Given the description of an element on the screen output the (x, y) to click on. 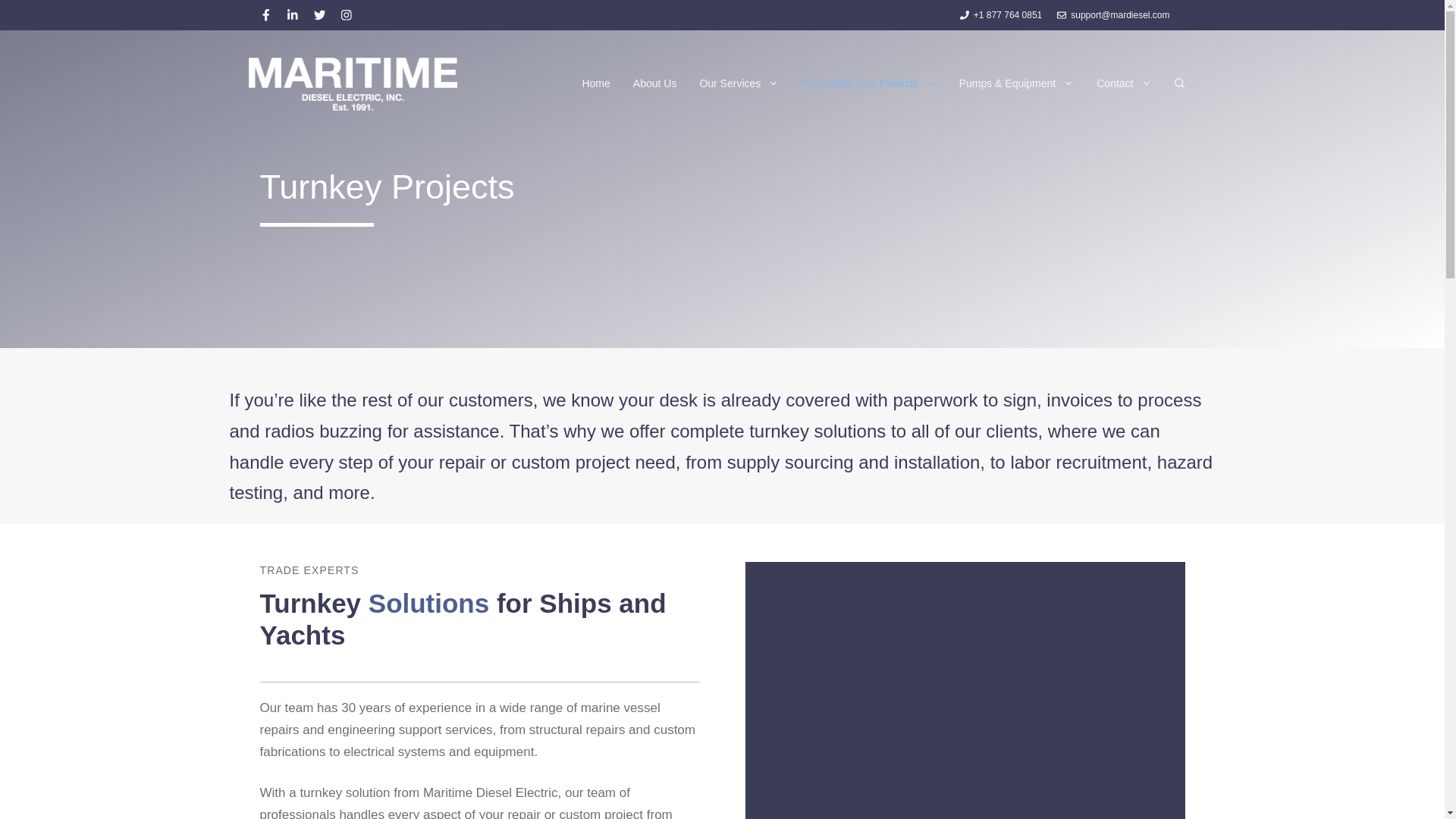
About Us (654, 83)
Passenger Ship Projects (868, 83)
Maritime Diesel Electric (352, 83)
Our Services (738, 83)
Home (595, 83)
